Given the description of an element on the screen output the (x, y) to click on. 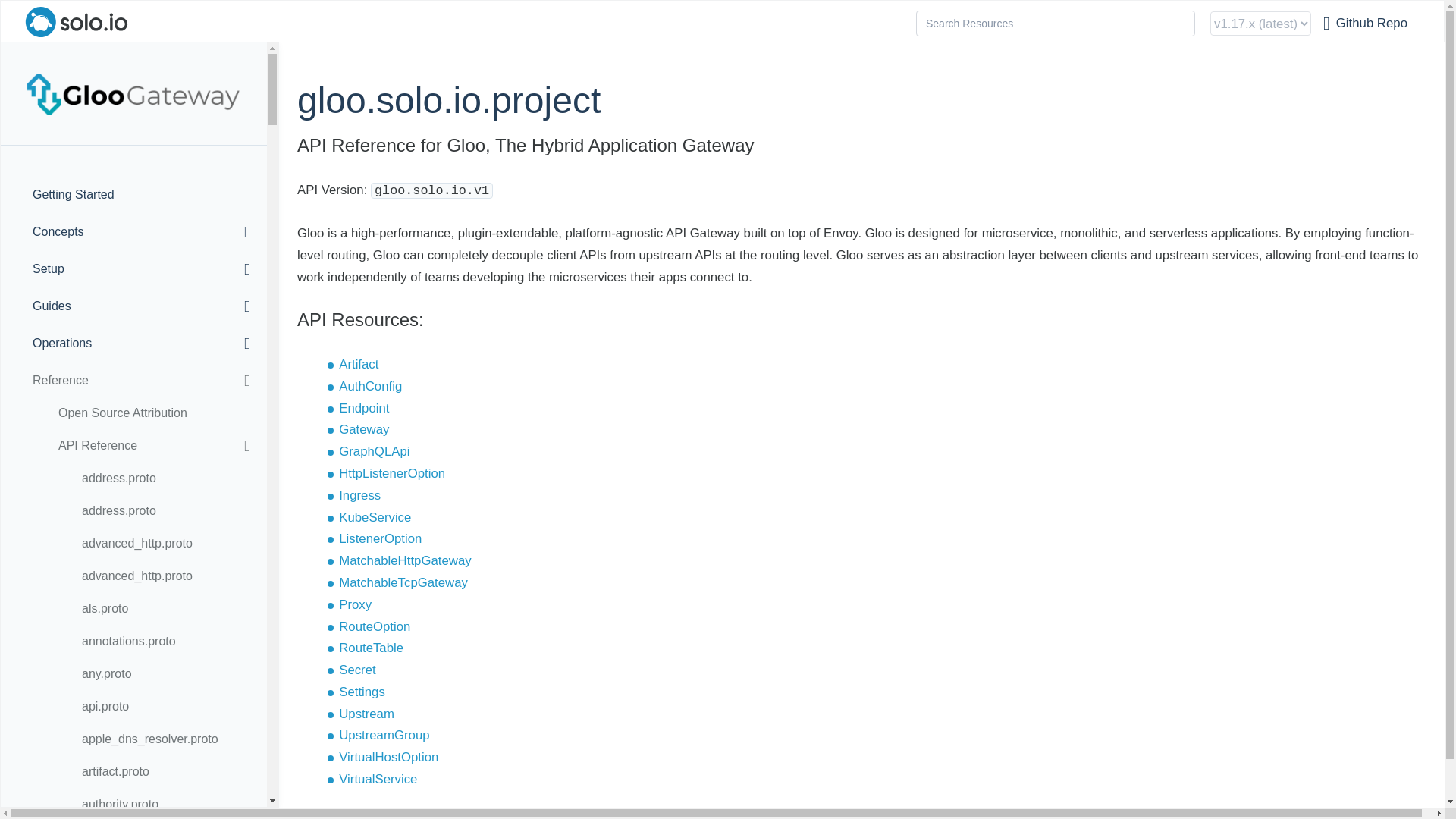
Concepts (134, 232)
Github Repo (1365, 23)
Getting Started (147, 194)
Setup (134, 269)
